Given the description of an element on the screen output the (x, y) to click on. 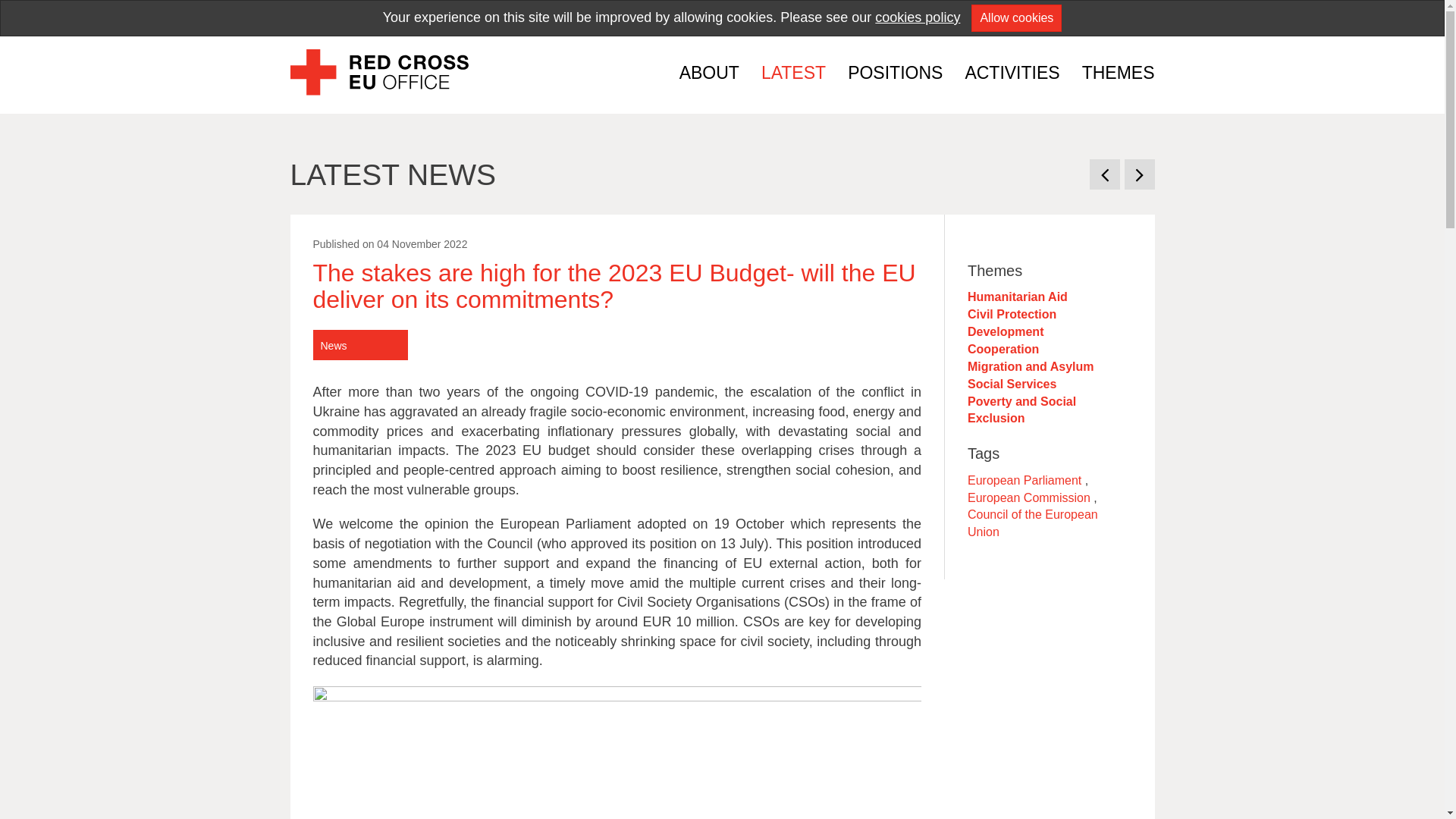
THEMES (1113, 73)
POSITIONS (895, 73)
Allow cookies (1016, 17)
Search (1139, 15)
Migration and Asylum (1031, 366)
cookies policy (917, 17)
Poverty and Social Exclusion (1021, 409)
LATEST (793, 73)
ABOUT (708, 73)
Civil Protection (1012, 314)
